Given the description of an element on the screen output the (x, y) to click on. 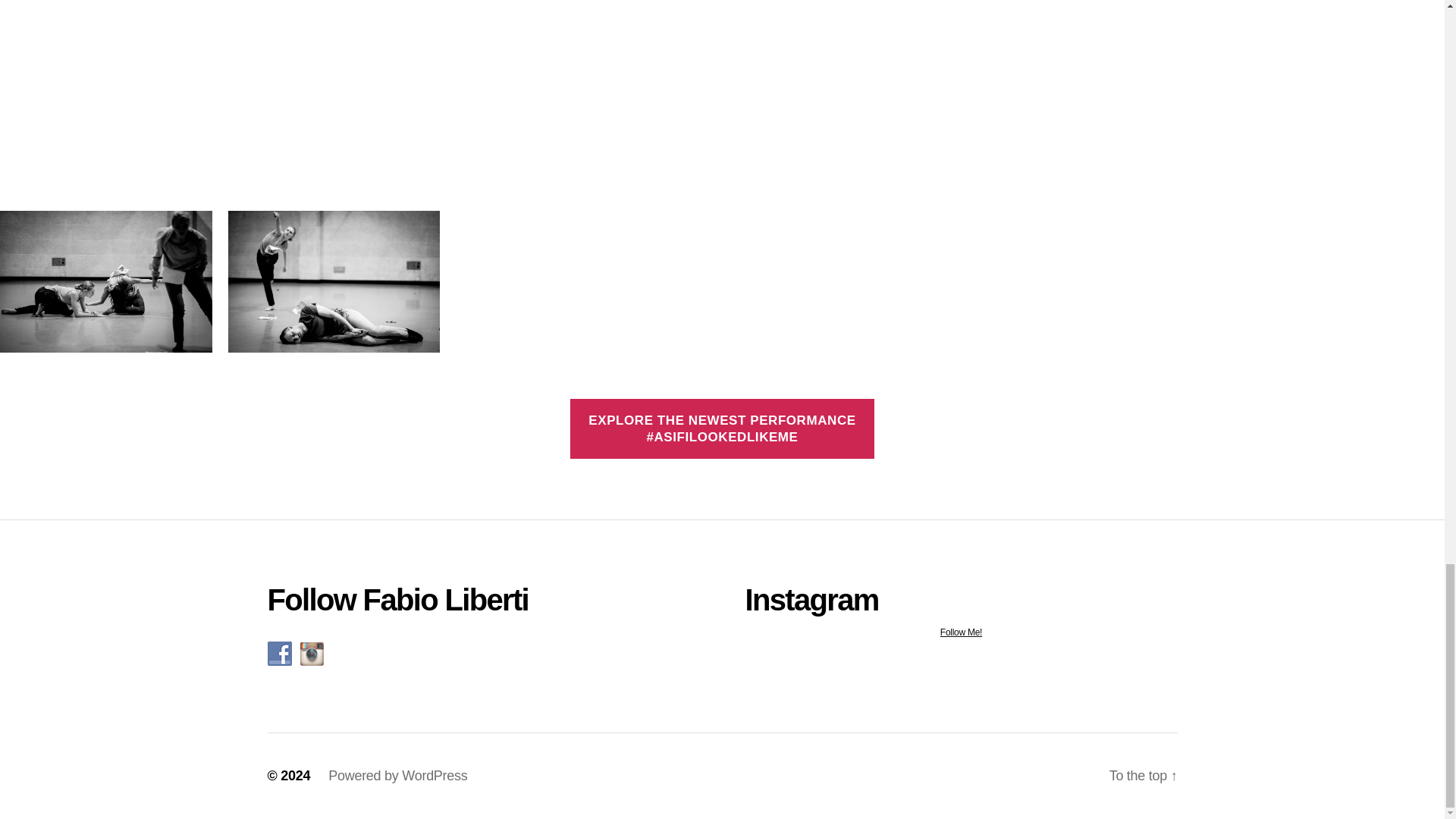
Follow Me! (960, 632)
Follow Us on Instagram (310, 653)
Follow Us on Facebook (278, 653)
Powered by WordPress (398, 775)
HERE IS NOT THERE trailer (722, 90)
